Given the description of an element on the screen output the (x, y) to click on. 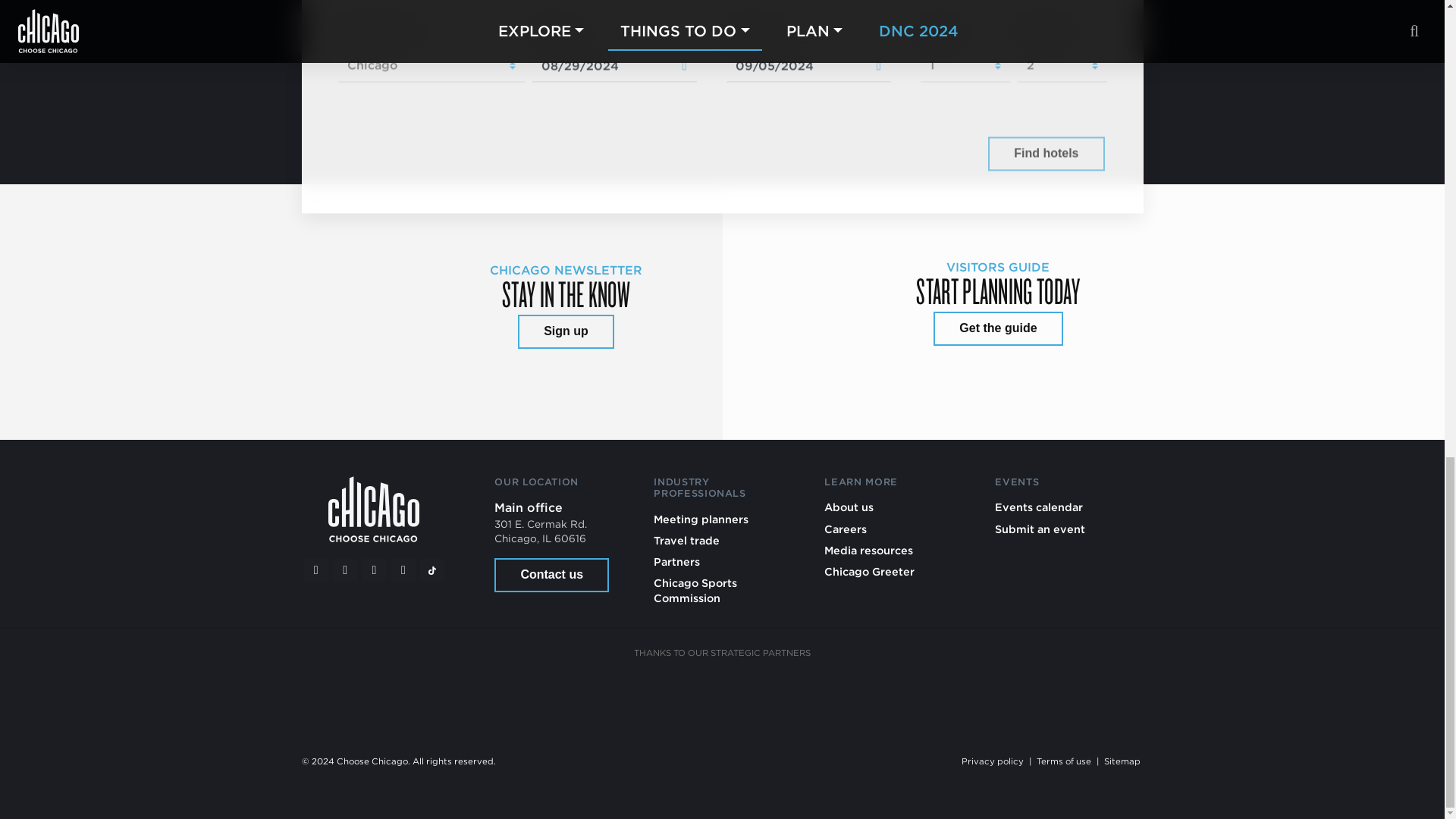
Brand USA (549, 696)
American Airlines (433, 696)
Enjoy Illinois (779, 696)
United Airlines (1009, 696)
Powered by Expedia (917, 154)
Chicago Department of Aviation (894, 696)
